Given the description of an element on the screen output the (x, y) to click on. 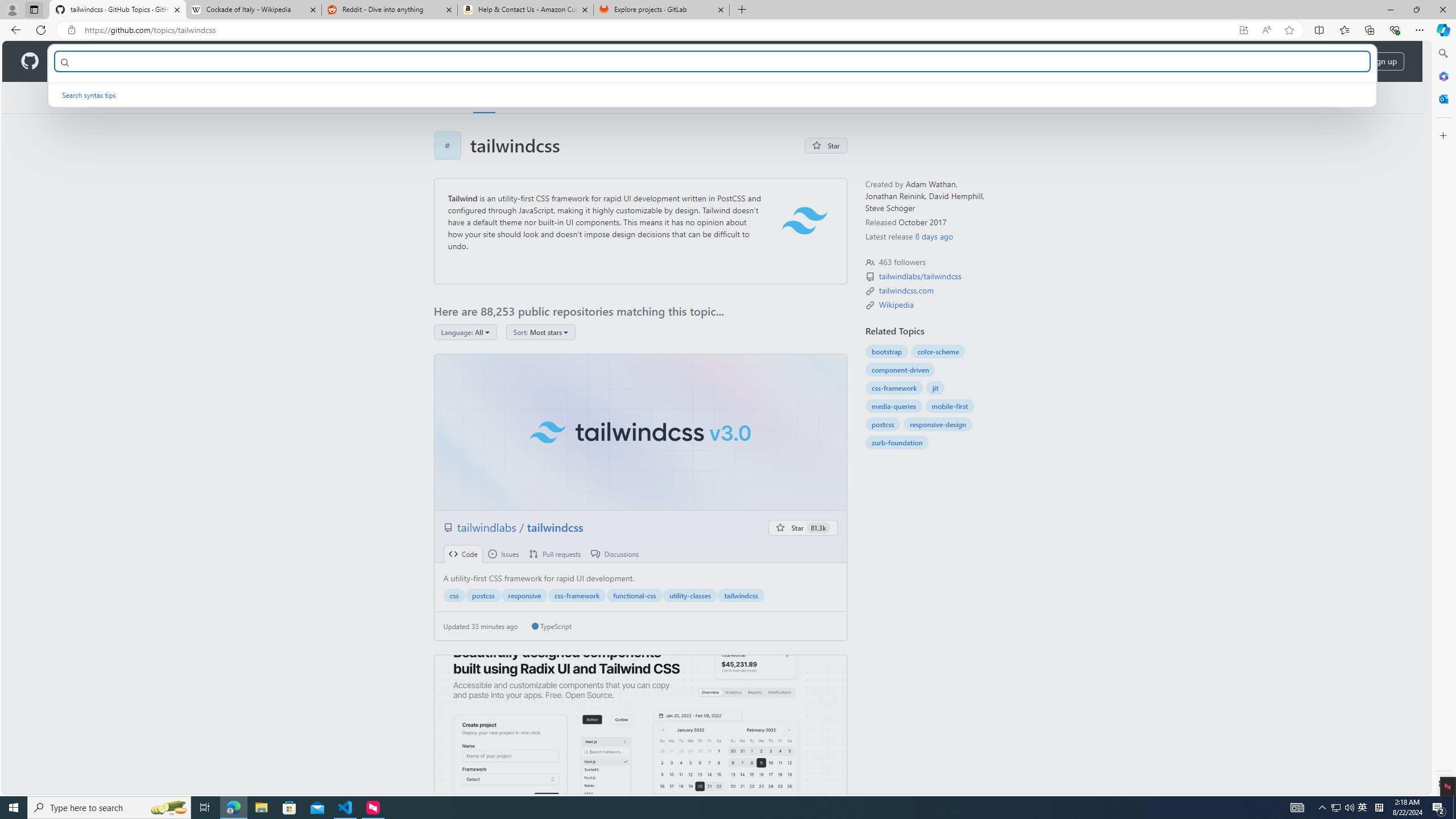
Product (74, 60)
css-framework (893, 387)
zurb-foundation (896, 442)
utility-classes (689, 594)
bootstrap (886, 351)
mobile-first (950, 405)
GitHub Sponsors (671, 97)
tailwind logo (804, 220)
8 days ago (933, 235)
Resources (187, 60)
You must be signed in to star a repository (802, 527)
